Given the description of an element on the screen output the (x, y) to click on. 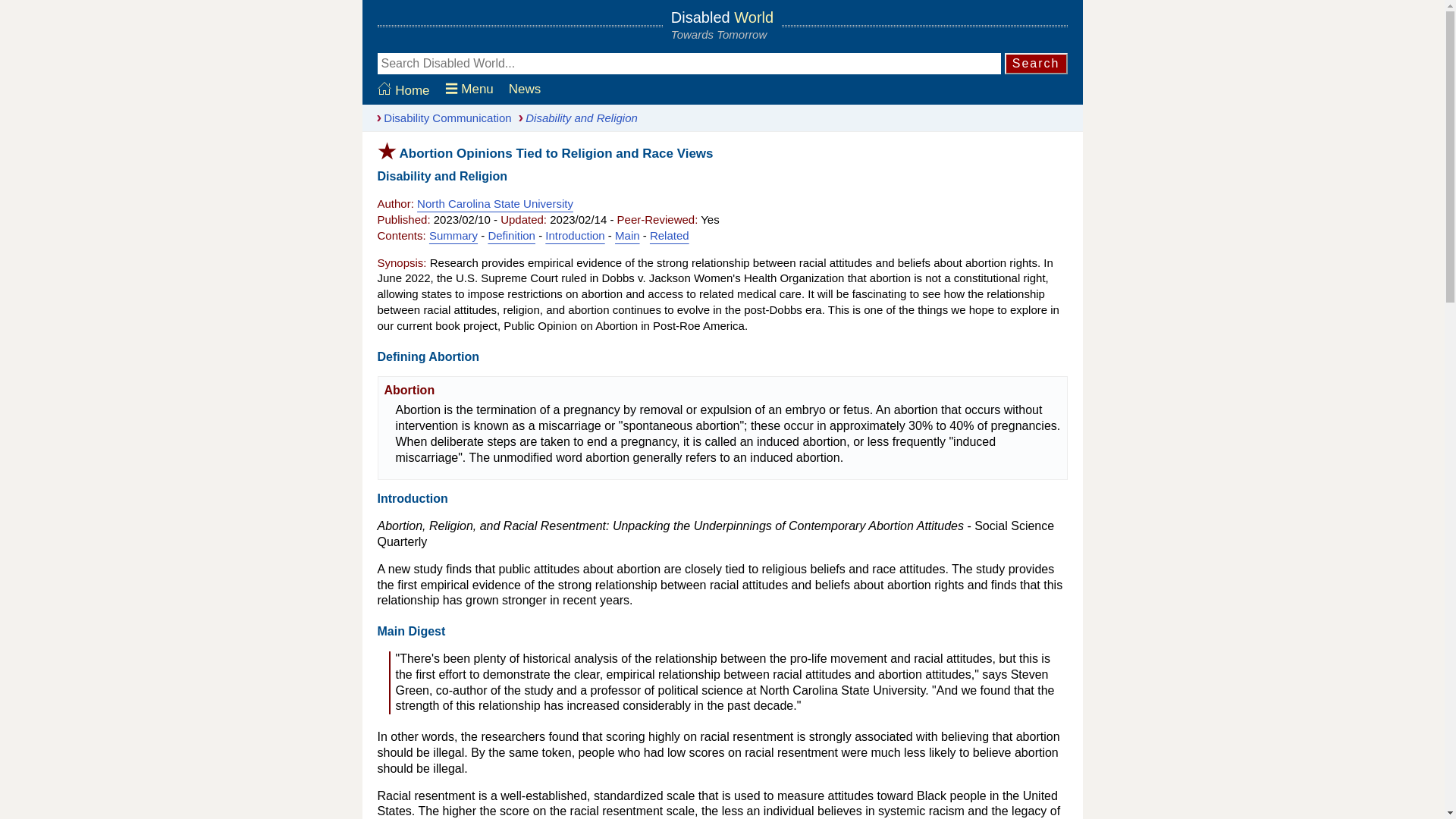
Introduction (574, 235)
Disability and Religion (574, 117)
Go to Disability and Religion (574, 117)
Home (403, 90)
Related (668, 235)
Disability Communication (440, 117)
Definition (511, 235)
Main (627, 235)
Go to Disability Communication (440, 117)
North Carolina State University (494, 203)
News (524, 89)
Summary (453, 235)
